Given the description of an element on the screen output the (x, y) to click on. 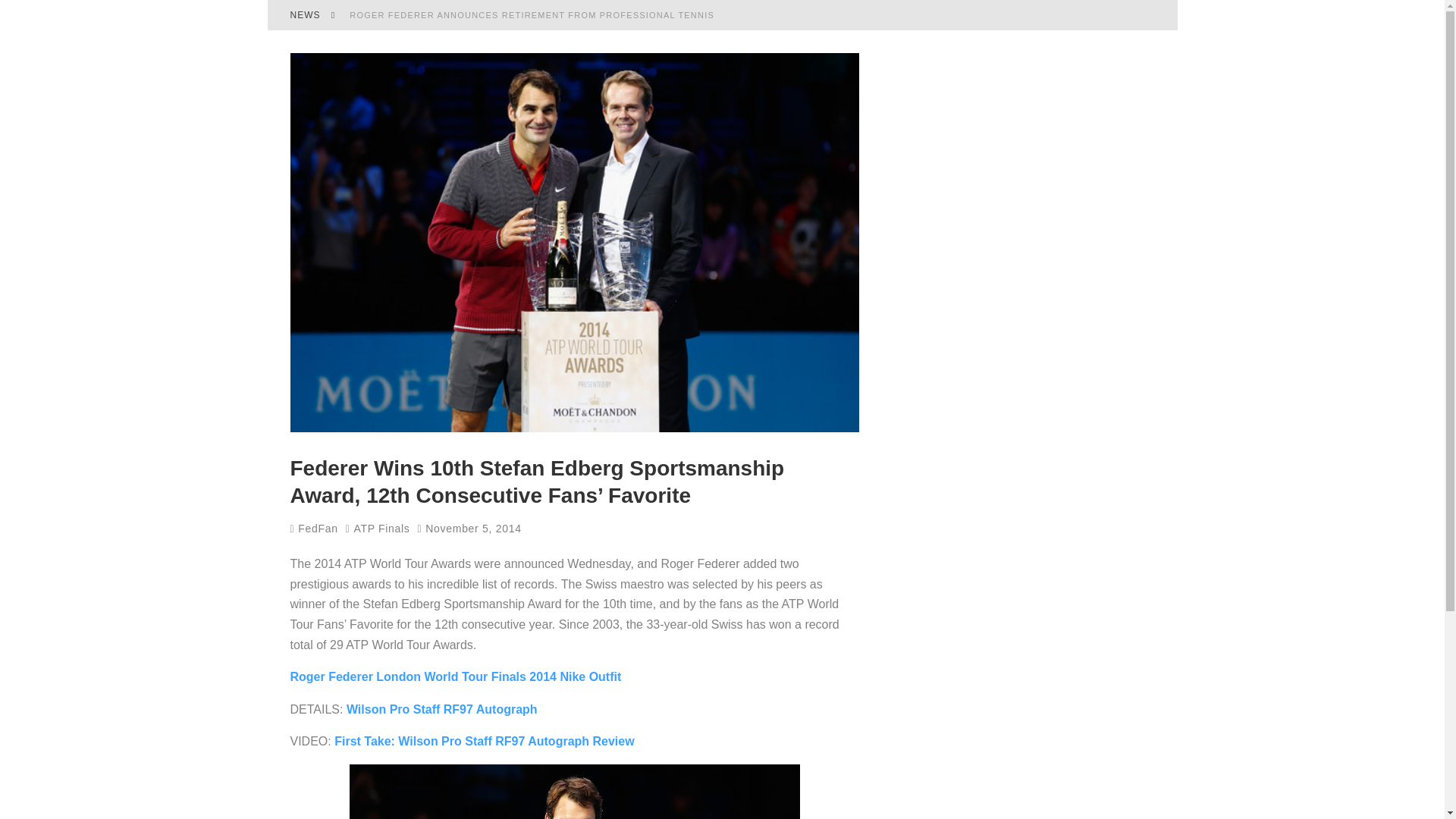
ATP Finals (381, 528)
ROGER FEDERER ANNOUNCES RETIREMENT FROM PROFESSIONAL TENNIS (531, 14)
Wilson Pro Staff RF97 Autograph (441, 708)
Roger Federer announces retirement from professional tennis (531, 14)
Roger Federer London World Tour Finals 2014 Nike Outfit (455, 676)
FedFan (313, 528)
First Take: Wilson Pro Staff RF97 Autograph Review (483, 740)
